Given the description of an element on the screen output the (x, y) to click on. 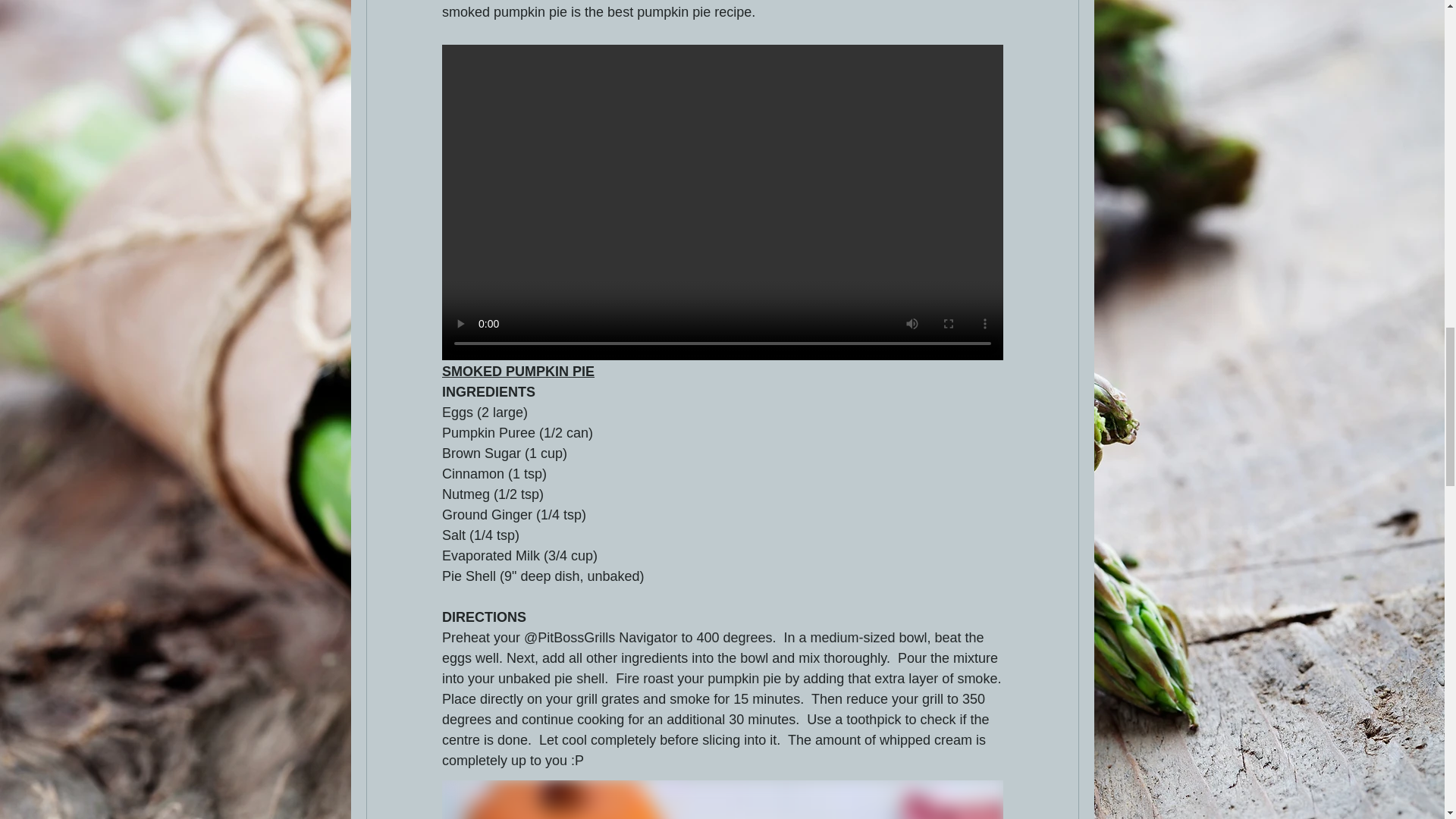
Pumpkin Pie Recipe (722, 799)
